Given the description of an element on the screen output the (x, y) to click on. 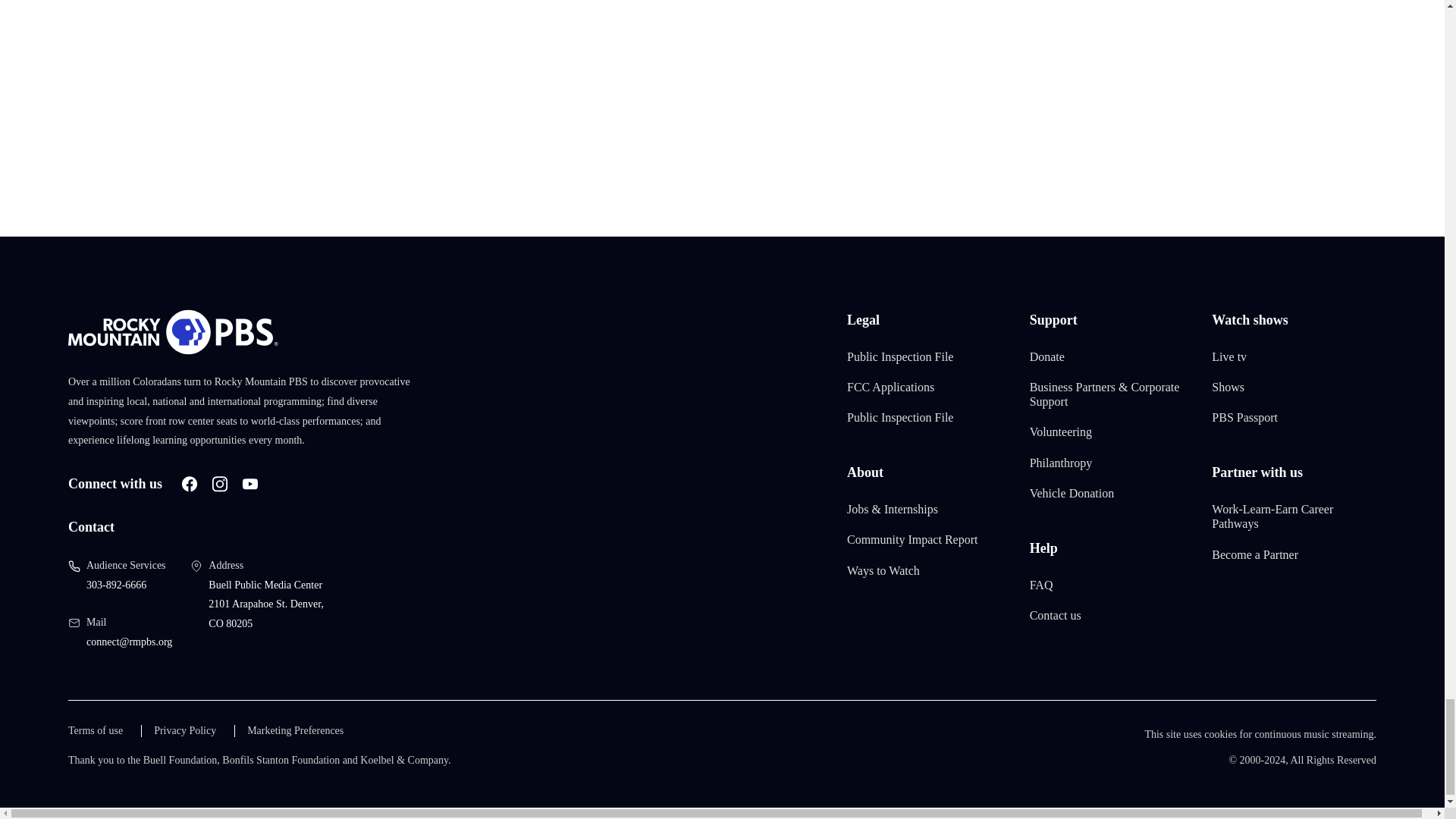
FCC Applications (890, 387)
Donate (1046, 356)
Public Inspection File (900, 356)
Ways to Watch (883, 570)
303-892-6666 (116, 584)
Public Inspection File (900, 417)
Community Impact Report (911, 539)
Volunteering (1060, 432)
